Given the description of an element on the screen output the (x, y) to click on. 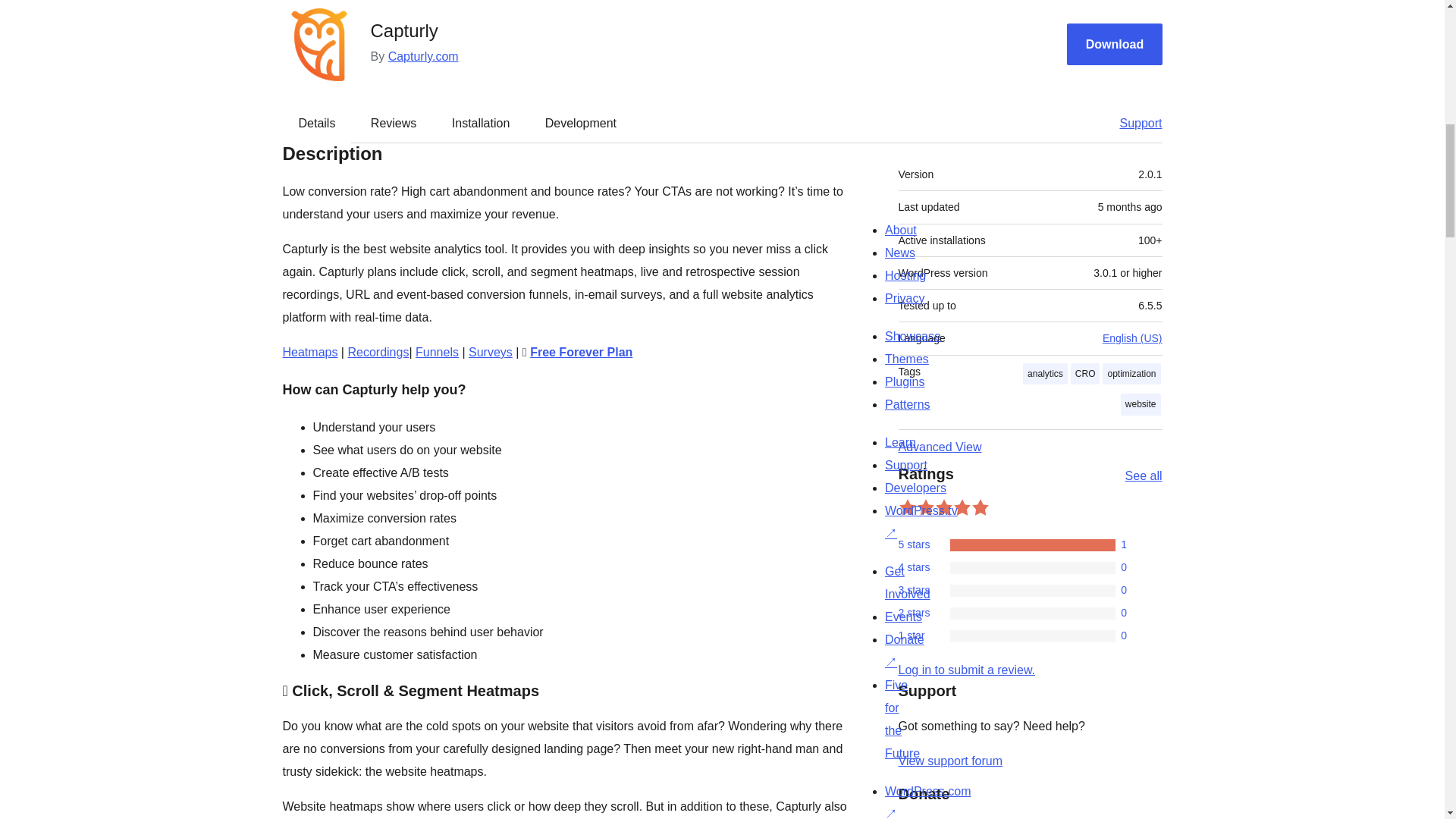
Free Forever Plan (580, 351)
Reviews (392, 123)
Capturly.com (423, 56)
Support (1132, 123)
Heatmaps (309, 351)
Surveys (490, 351)
Recordings (378, 351)
Log in to WordPress.org (966, 669)
Development (580, 123)
Download (1114, 44)
